Given the description of an element on the screen output the (x, y) to click on. 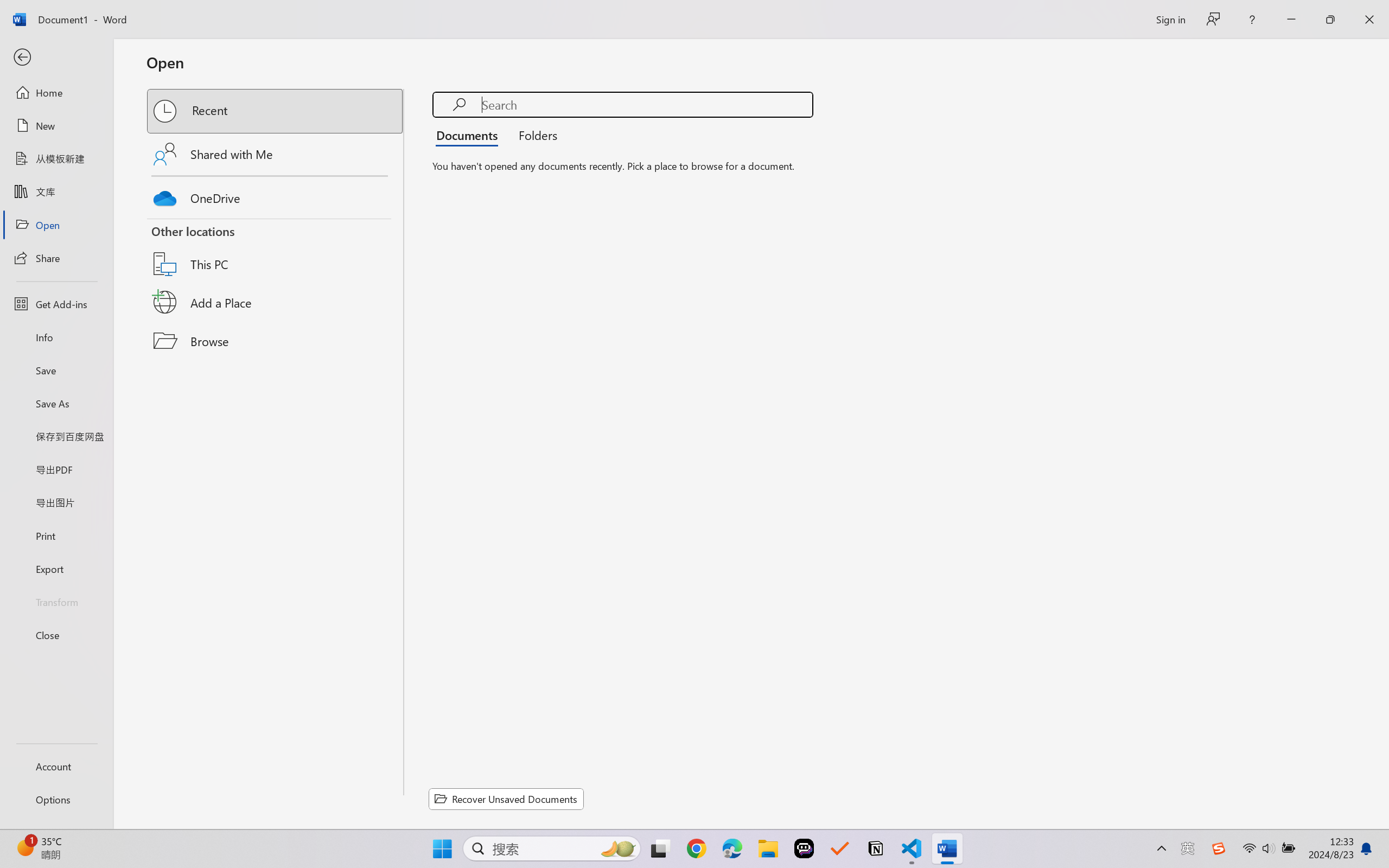
Get Add-ins (56, 303)
Export (56, 568)
Folders (534, 134)
Options (56, 798)
Account (56, 765)
OneDrive (275, 195)
Save As (56, 403)
